Given the description of an element on the screen output the (x, y) to click on. 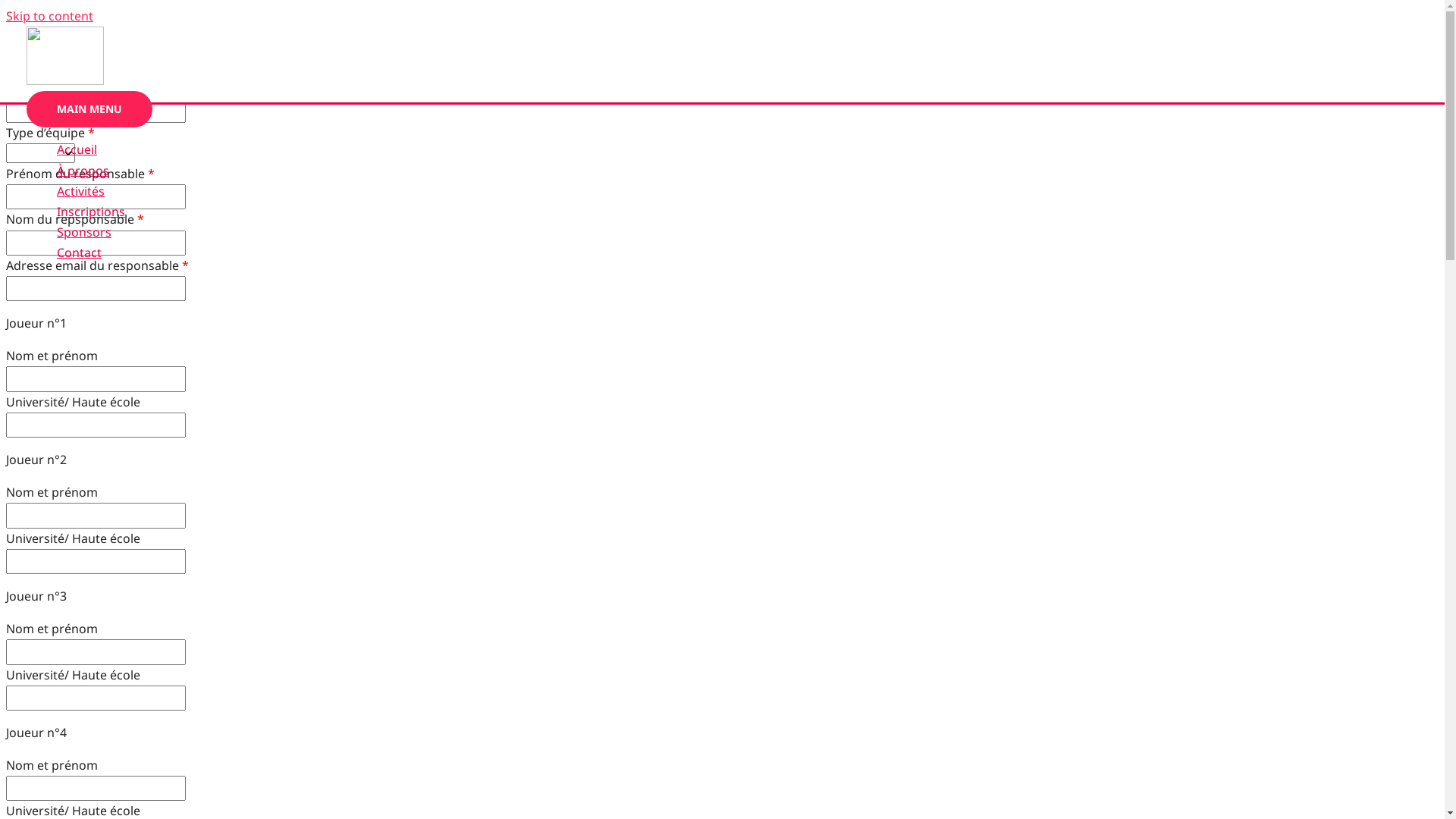
Accueil Element type: text (737, 149)
Sponsors Element type: text (737, 232)
Contact Element type: text (737, 252)
Inscriptions Element type: text (737, 211)
Skip to content Element type: text (49, 15)
MAIN MENU Element type: text (89, 109)
